Given the description of an element on the screen output the (x, y) to click on. 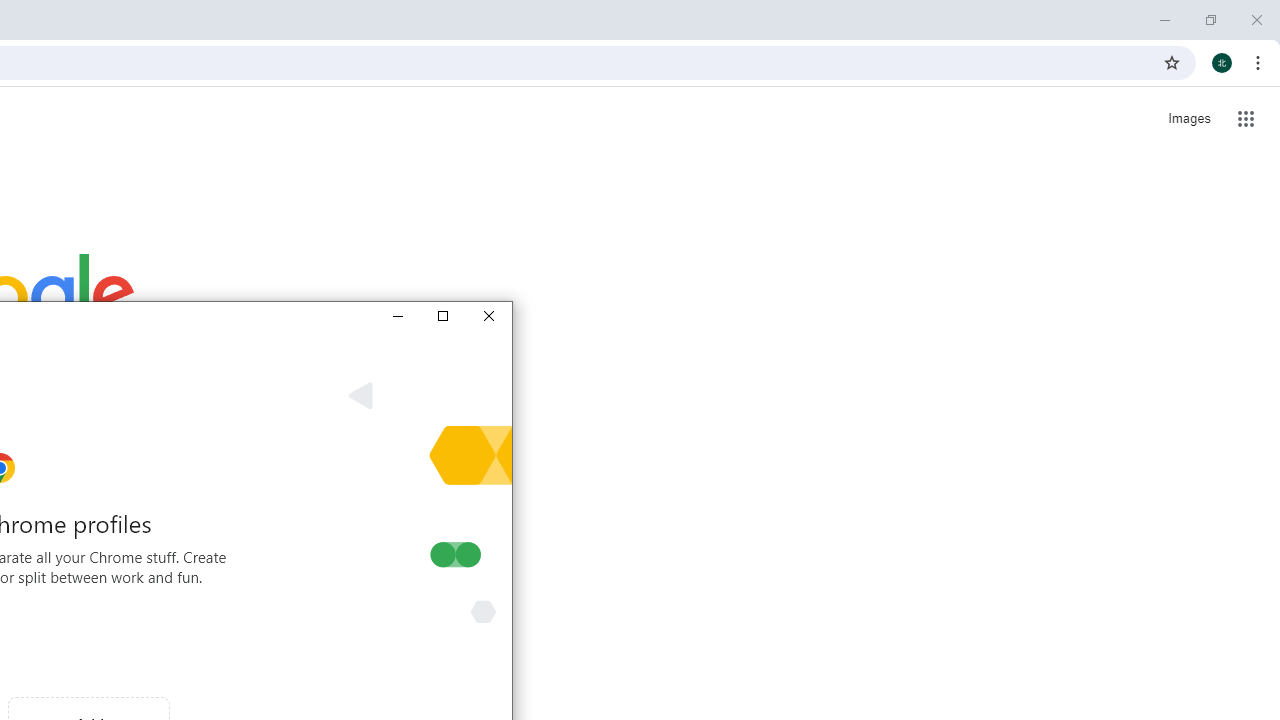
Maximize (442, 316)
